Given the description of an element on the screen output the (x, y) to click on. 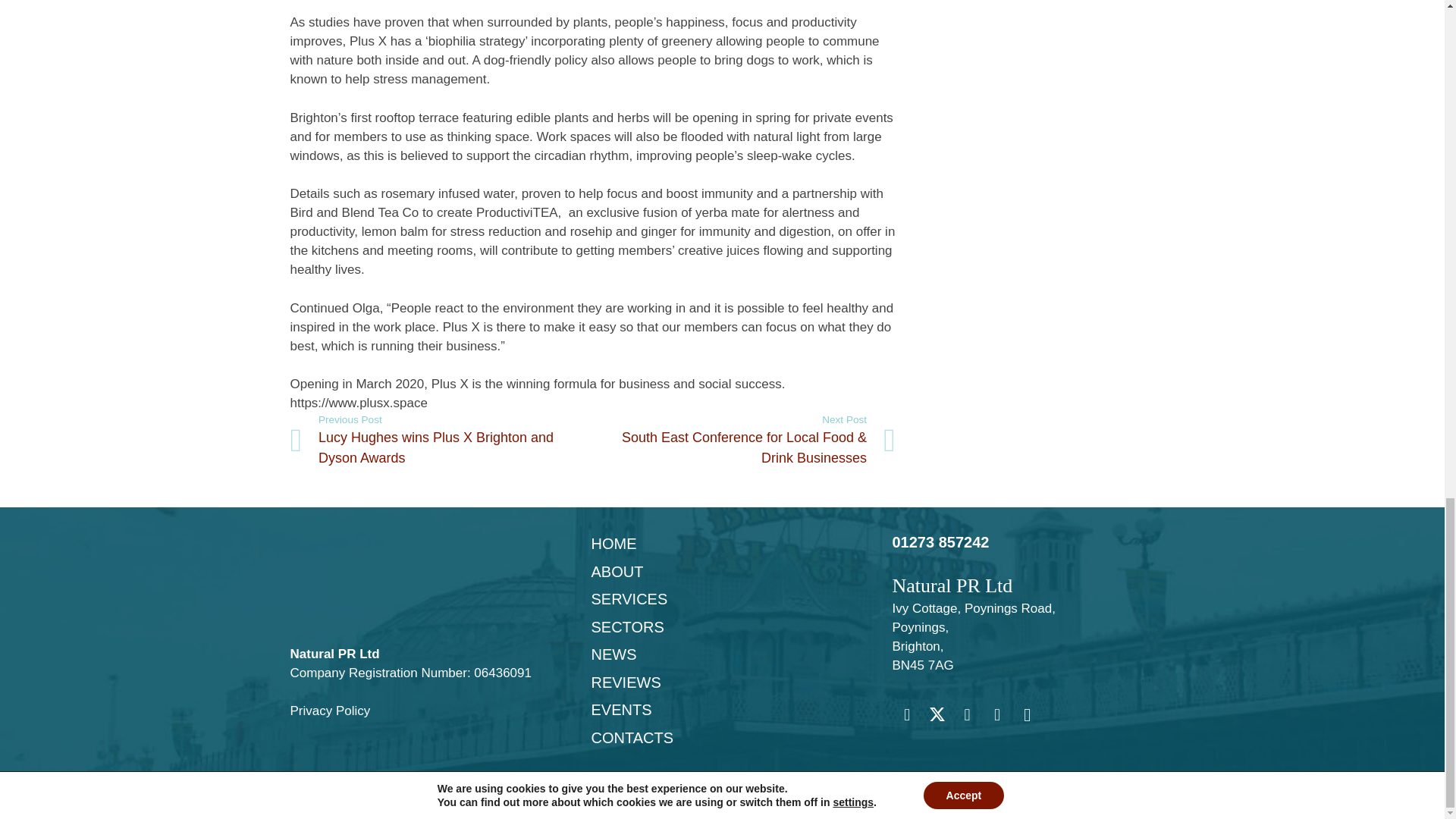
EVENTS (620, 709)
NEWS (613, 654)
SERVICES (628, 598)
SECTORS (627, 627)
ABOUT (617, 571)
01273 857242 (939, 541)
Privacy Policy (329, 710)
HOME (613, 543)
Lucy Hughes wins Plus X Brighton and Dyson Awards (440, 440)
CONTACTS (631, 737)
REVIEWS (626, 682)
